Given the description of an element on the screen output the (x, y) to click on. 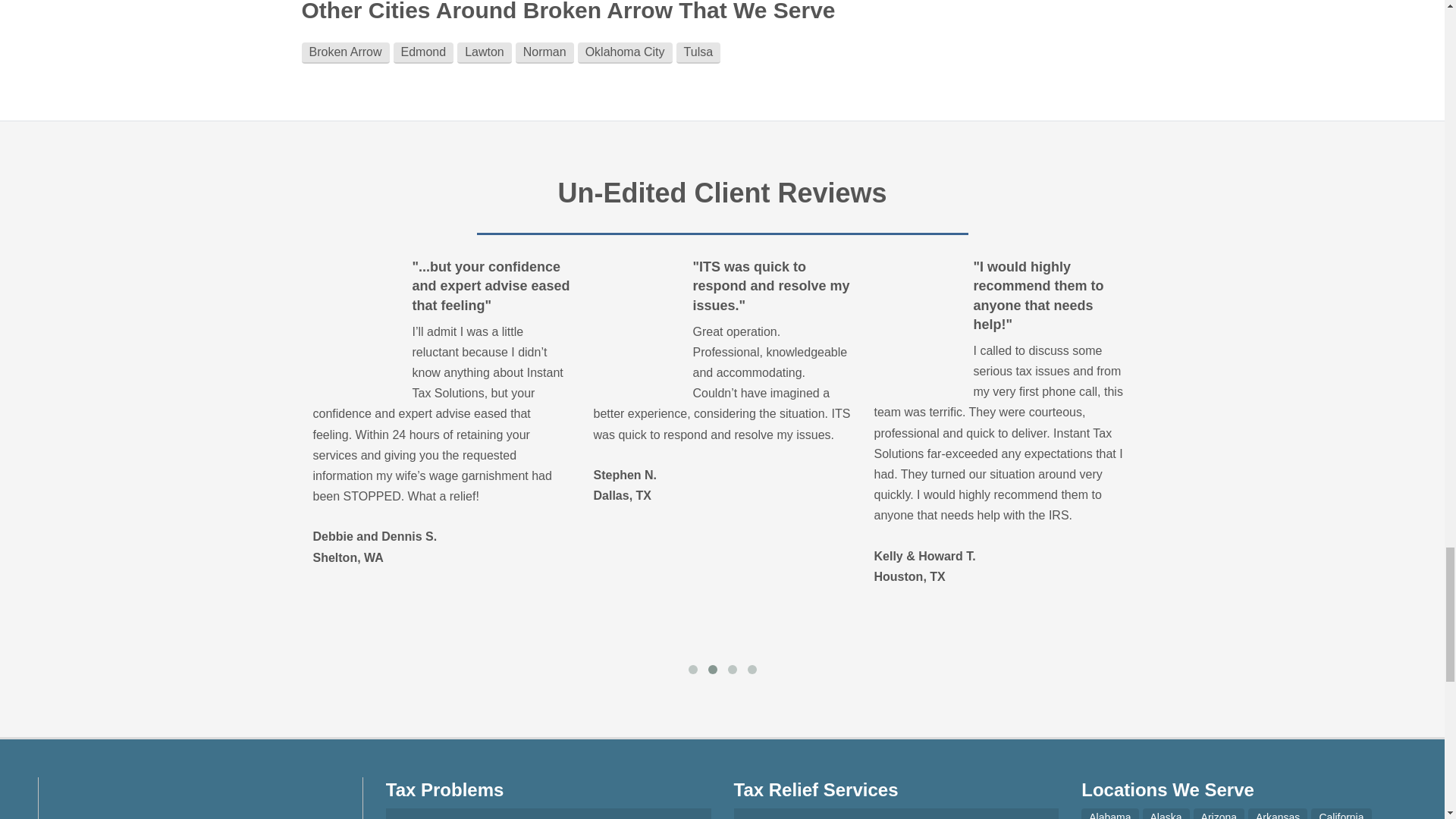
Alaska (1165, 813)
Norman (544, 52)
Broken Arrow (345, 52)
Arizona (1218, 813)
Lawton (484, 52)
Tulsa (698, 52)
Alabama (1109, 813)
Oklahoma City (625, 52)
Edmond (423, 52)
